Given the description of an element on the screen output the (x, y) to click on. 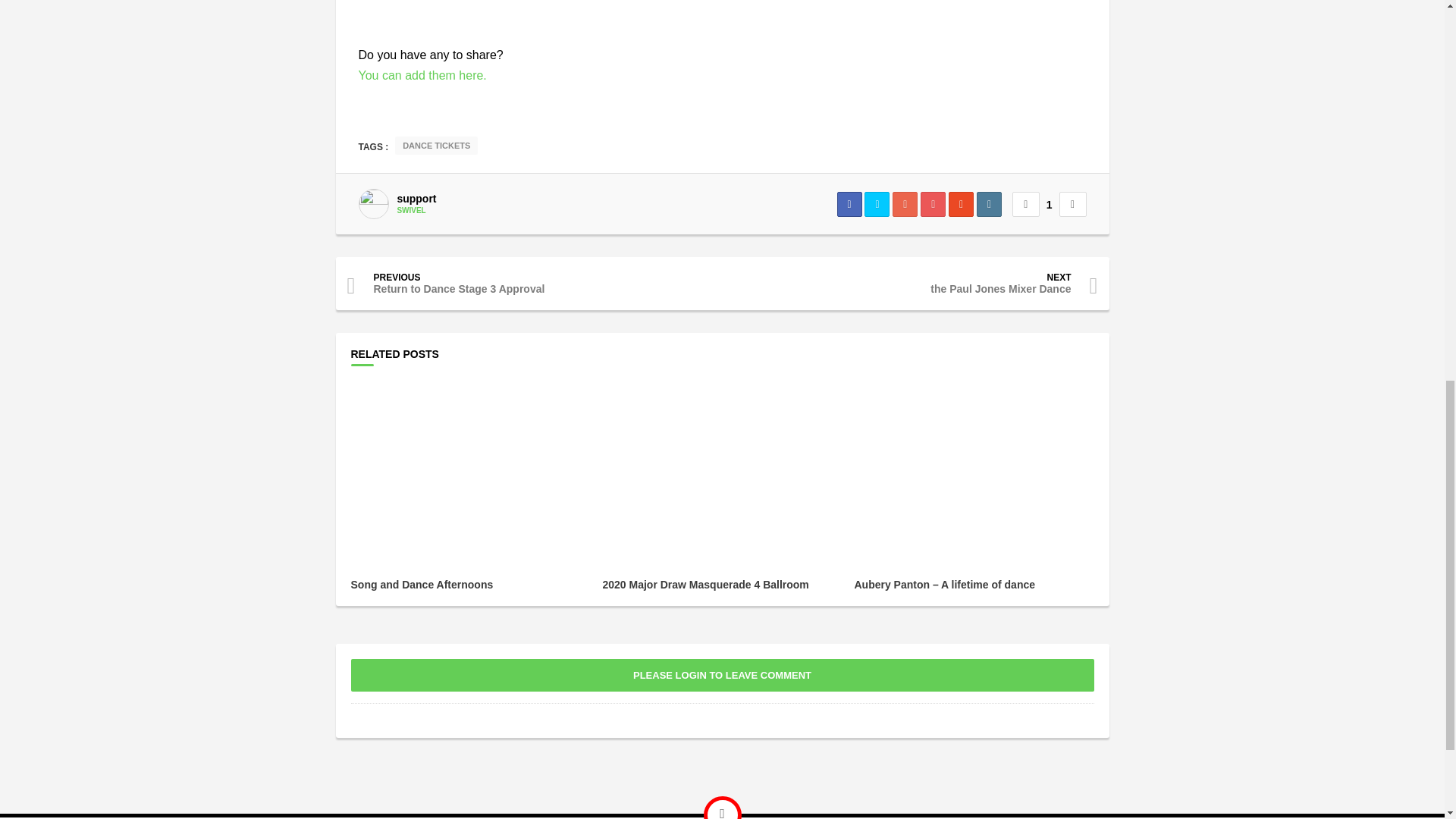
Upvote (1025, 204)
Downvote (1072, 204)
Share on Facebook (849, 204)
Share on Twitter (876, 204)
Share on Pinterest (932, 204)
Share on StumbleUpon (961, 204)
DANCE TICKETS (435, 145)
Share on Tumblr (988, 204)
You can add them here. (422, 74)
